Given the description of an element on the screen output the (x, y) to click on. 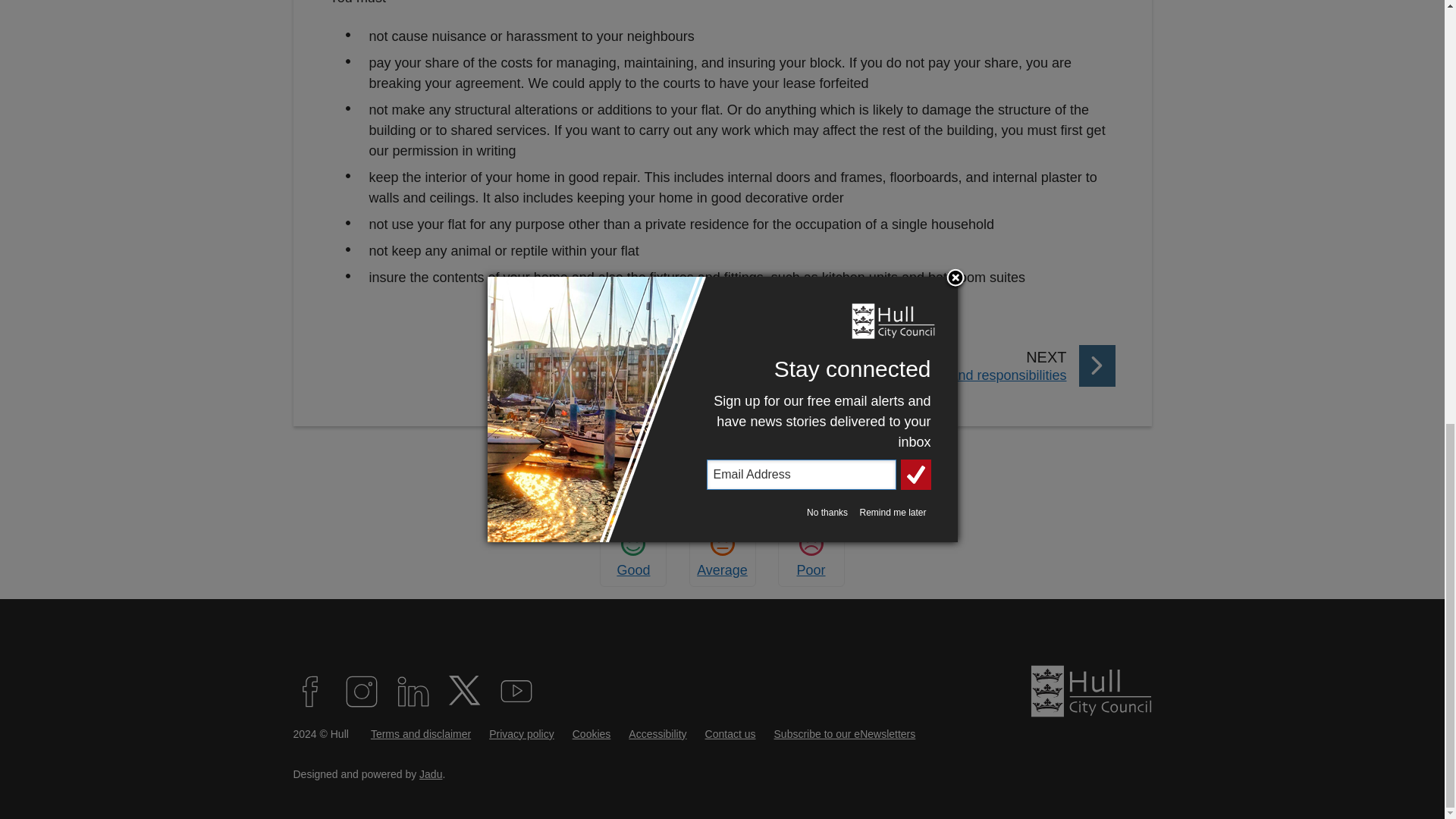
YOUTUBE (515, 691)
Contact us (729, 734)
Visit the Jadu website (430, 774)
Average (722, 555)
Poor (811, 555)
LINKEDIN (412, 691)
TWITTER (463, 691)
Subscribe to our eNewsletters (844, 734)
Accessibility (922, 365)
Jadu (656, 734)
rate this page as poor (430, 774)
Good (811, 555)
Terms and disclaimer (633, 555)
INSTAGRAM (420, 734)
